Given the description of an element on the screen output the (x, y) to click on. 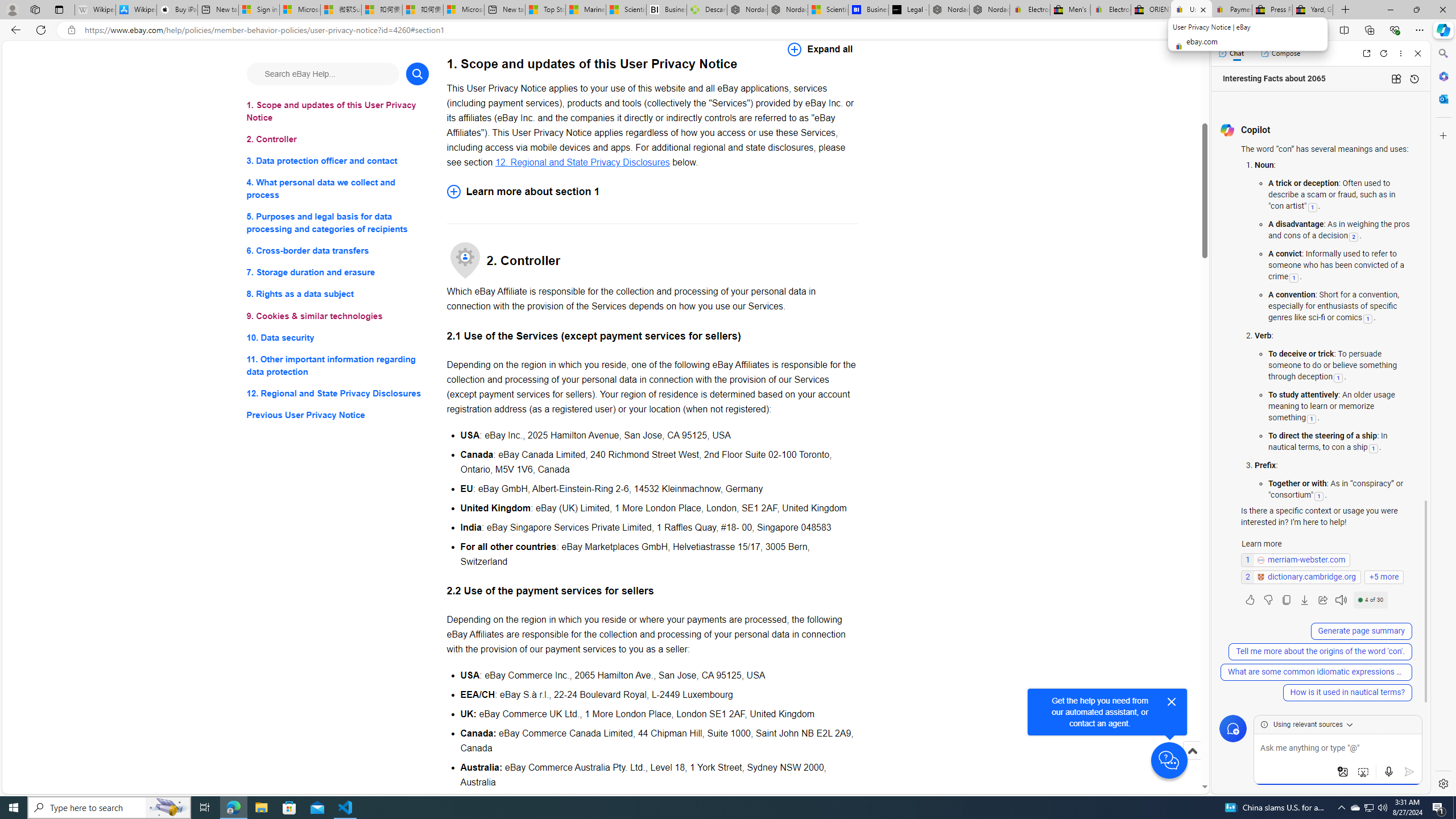
Microsoft Services Agreement (299, 9)
9. Cookies & similar technologies (337, 315)
7. Storage duration and erasure (337, 272)
Sign in to your Microsoft account (258, 9)
Expand all (820, 49)
